Given the description of an element on the screen output the (x, y) to click on. 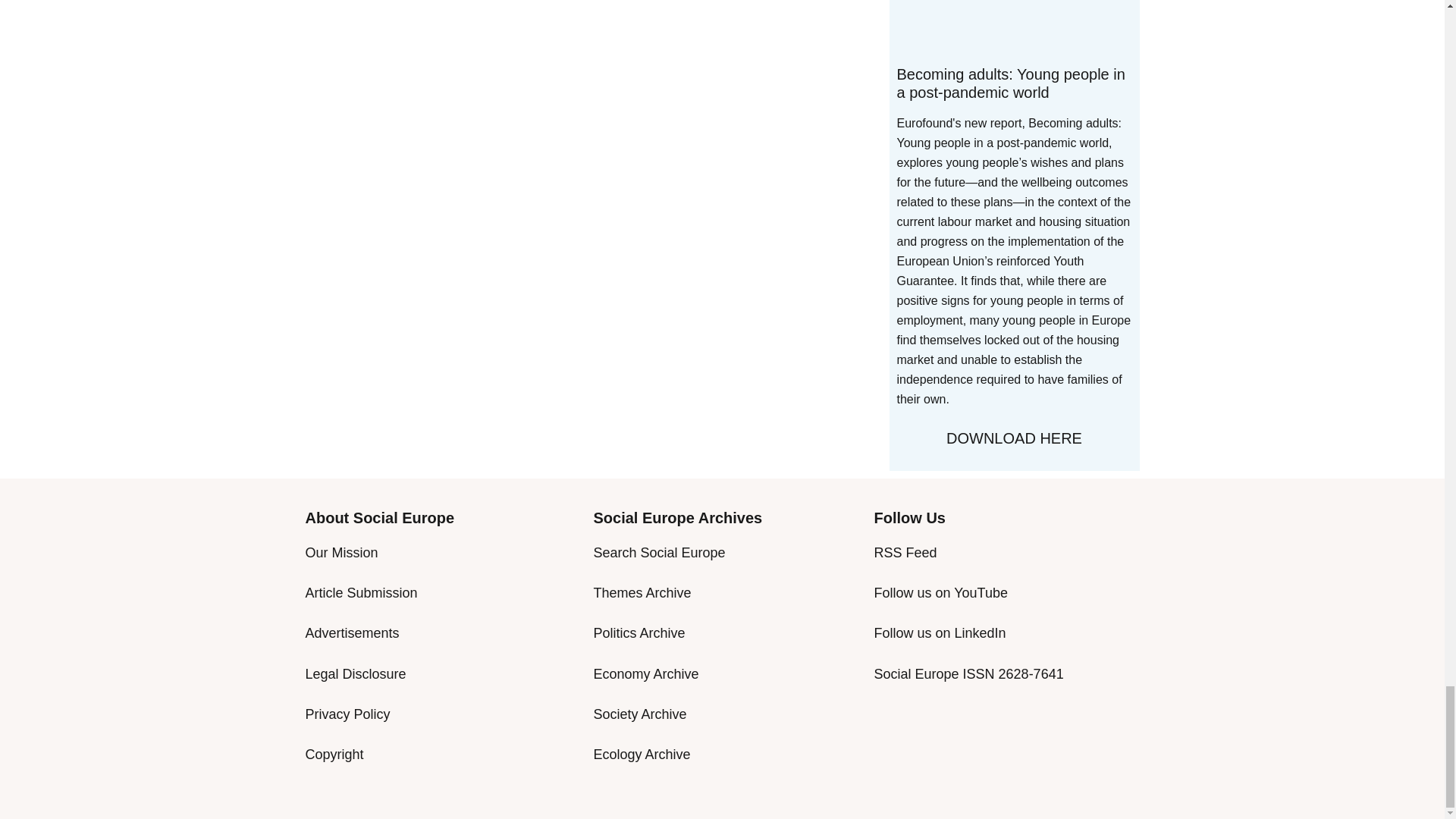
Politics Archive (638, 632)
Society Archive (638, 713)
Copyright (333, 754)
Article Submission (360, 592)
DOWNLOAD HERE (1013, 438)
Advertisements (351, 632)
Legal Disclosure (355, 673)
Privacy Policy (347, 713)
Themes Archive (641, 592)
Our Mission (340, 552)
